Given the description of an element on the screen output the (x, y) to click on. 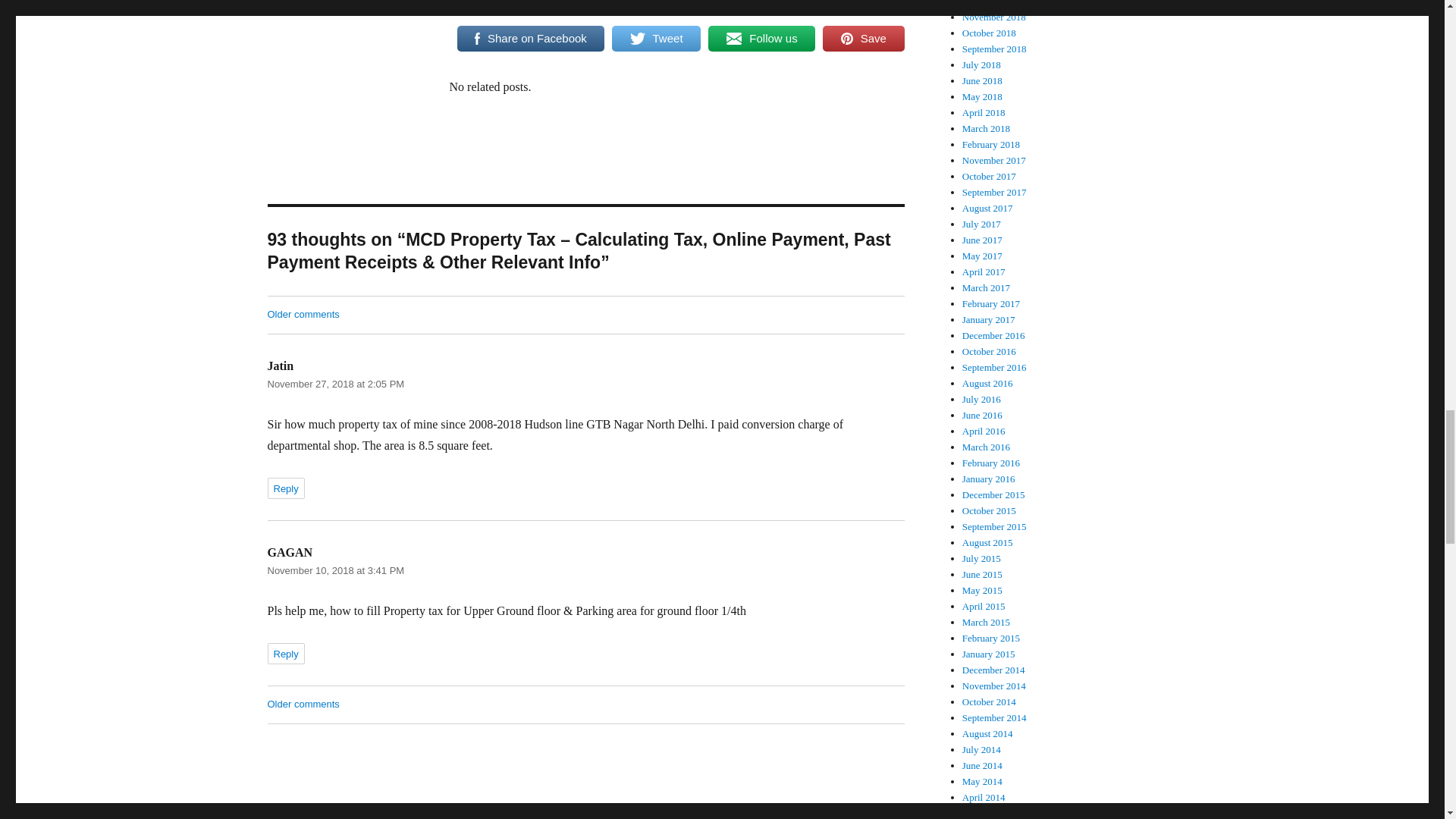
Older comments (302, 314)
November 10, 2018 at 3:41 PM (335, 570)
Tweet (655, 38)
November 27, 2018 at 2:05 PM (335, 383)
Share on Facebook (530, 38)
Older comments (302, 704)
Reply (285, 487)
Save (863, 38)
Follow us (761, 38)
Reply (285, 653)
